Given the description of an element on the screen output the (x, y) to click on. 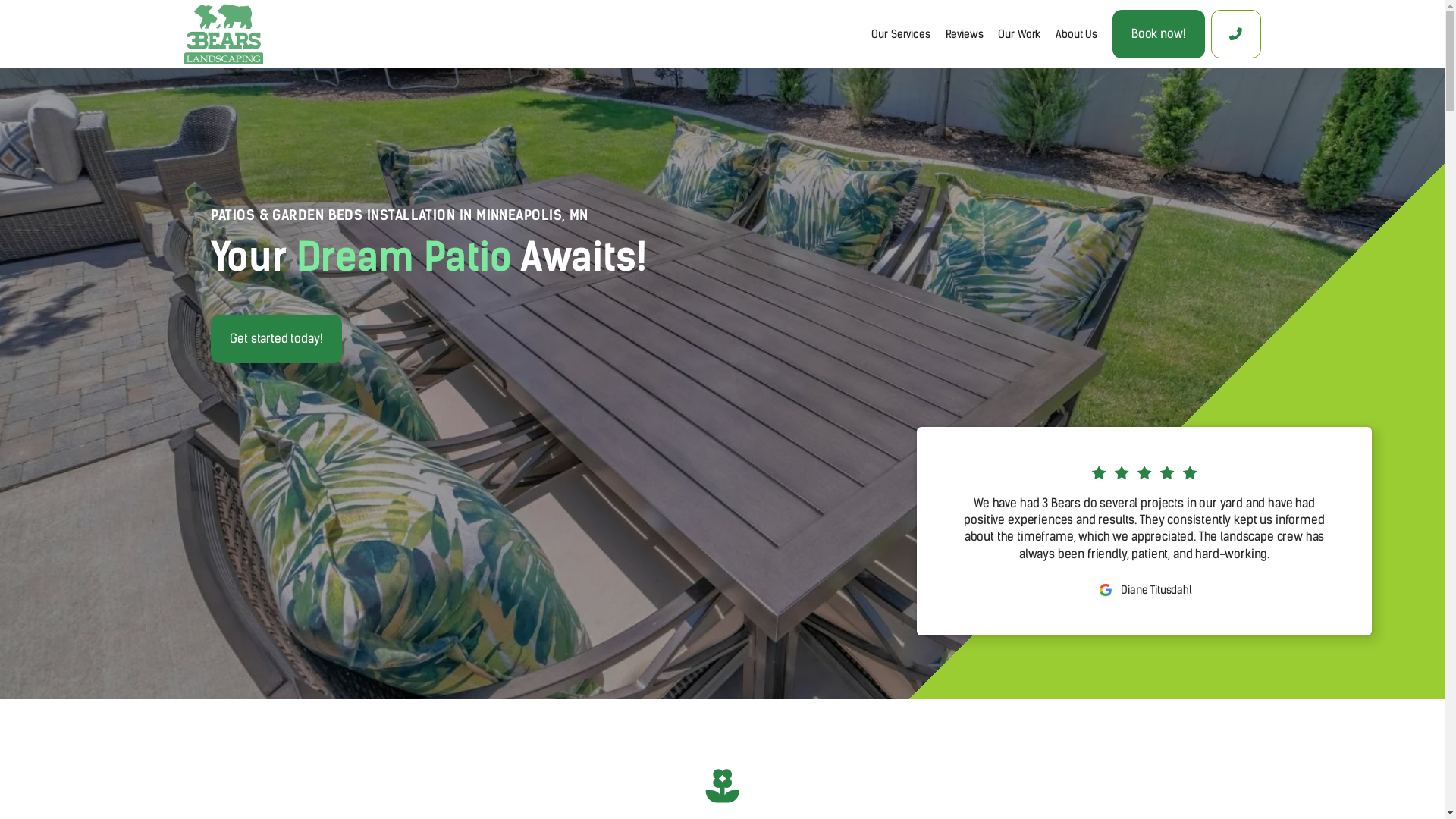
Book now! Element type: text (1158, 33)
About Us Element type: text (1076, 33)
Reviews Element type: text (964, 33)
Our Work Element type: text (1019, 33)
Get started today! Element type: text (275, 338)
